Given the description of an element on the screen output the (x, y) to click on. 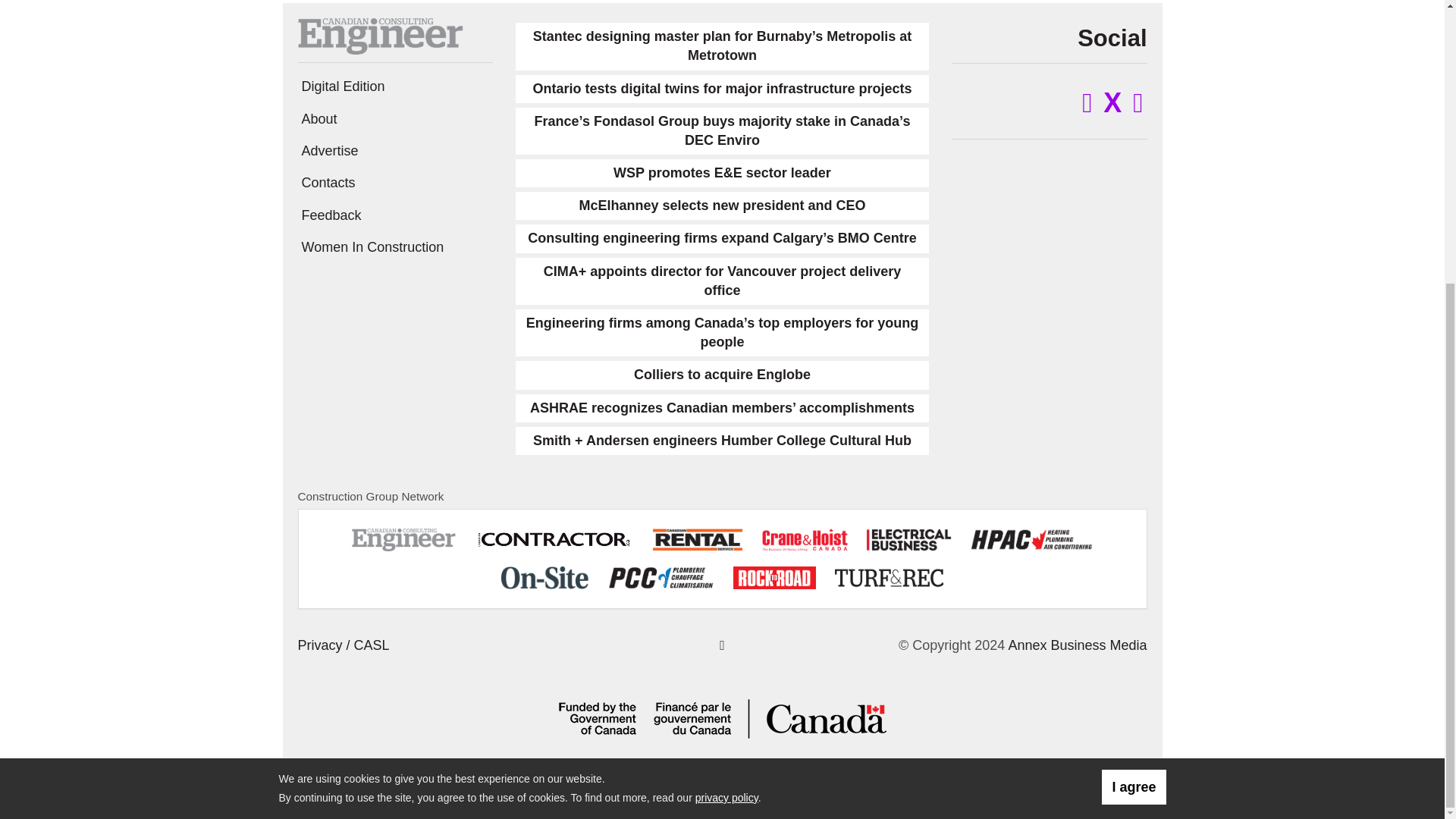
scroll to top (722, 645)
Annex Business Media (1077, 645)
3rd party ad content (133, 97)
Canadian Consulting Engineer (380, 35)
